Given the description of an element on the screen output the (x, y) to click on. 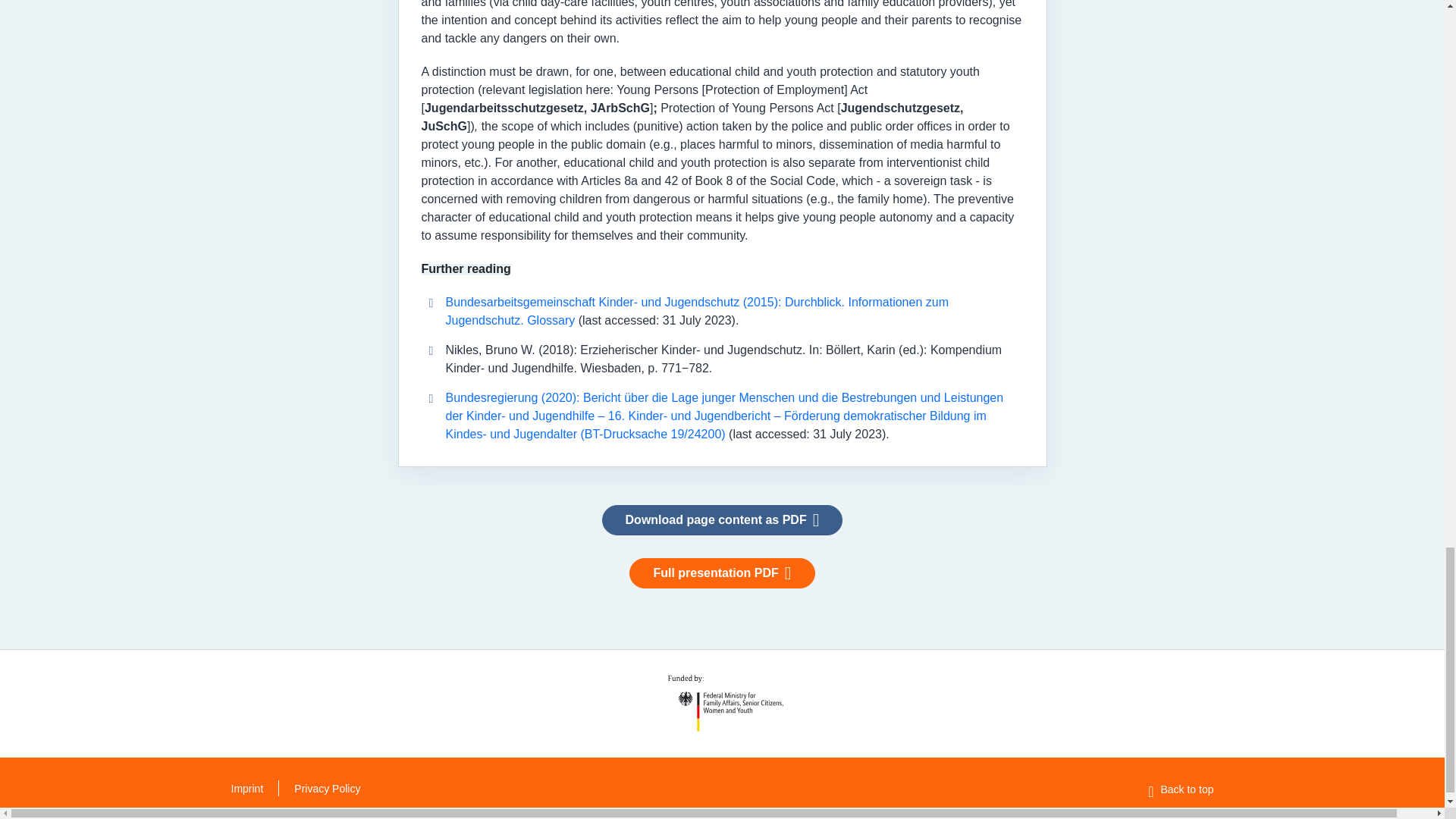
Download page content as PDF (722, 520)
Privacy Policy (326, 788)
Back to top (1180, 788)
Full presentation PDF (720, 572)
Imprint (246, 788)
